Given the description of an element on the screen output the (x, y) to click on. 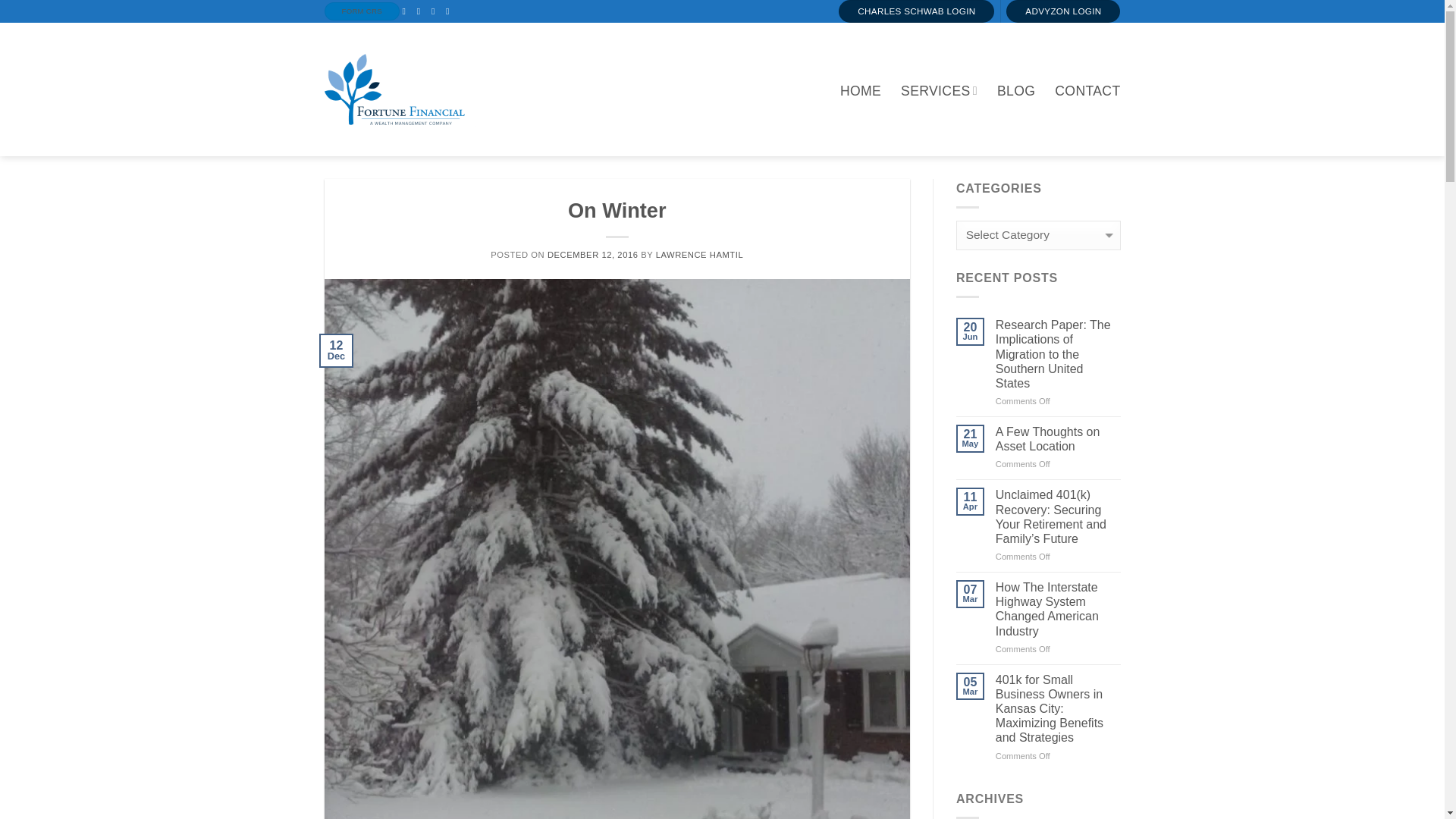
A Few Thoughts on Asset Location (1058, 439)
HOME (860, 90)
BLOG (1016, 90)
Fortune Financial Advisors (400, 89)
CHARLES SCHWAB LOGIN (916, 11)
ADVYZON LOGIN (1062, 11)
How The Interstate Highway System Changed American Industry (1058, 608)
FORM CRS (361, 11)
SERVICES (938, 90)
